Given the description of an element on the screen output the (x, y) to click on. 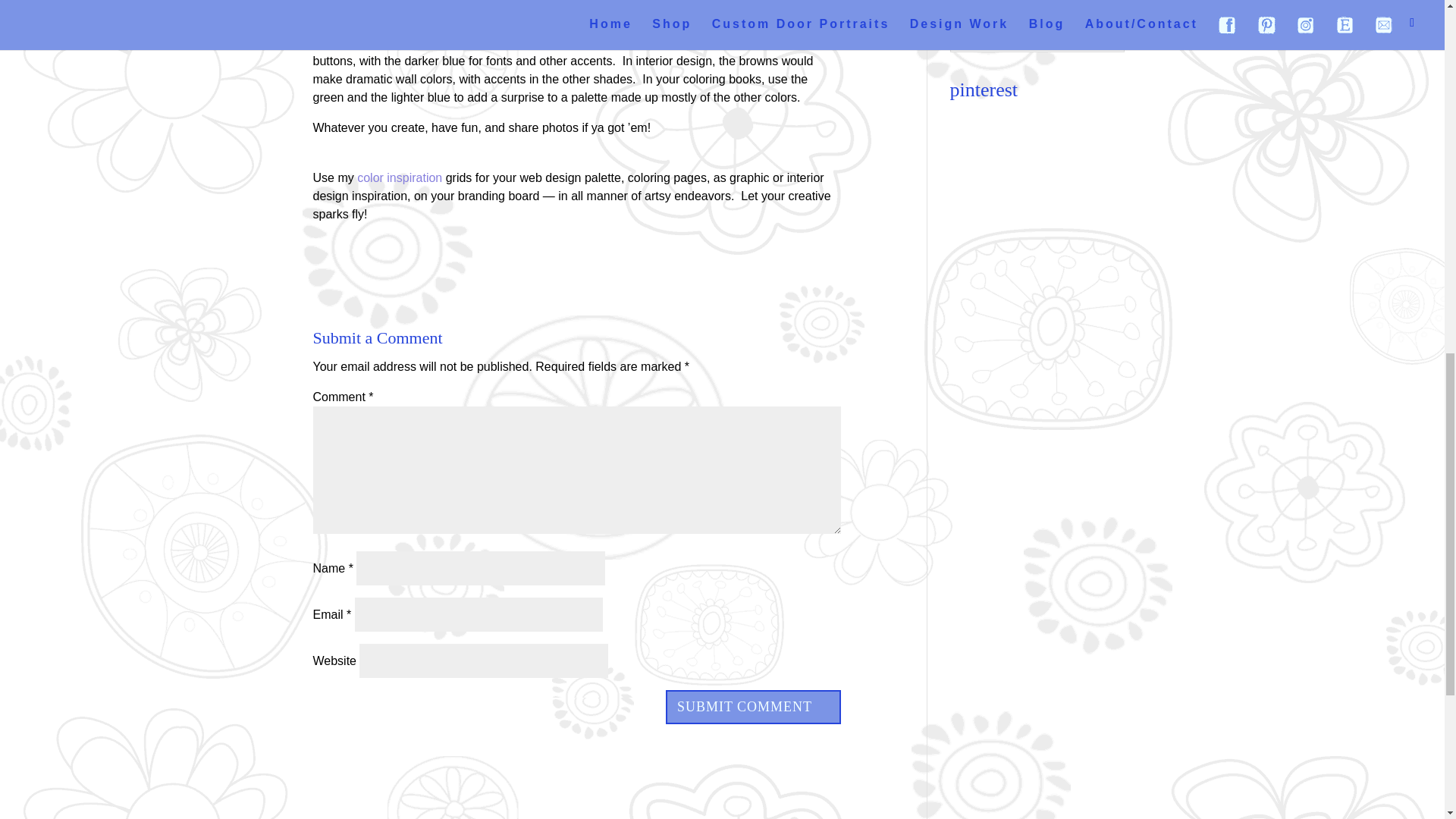
Submit Comment (753, 706)
color inspiration (399, 177)
Submit Comment (753, 706)
